Given the description of an element on the screen output the (x, y) to click on. 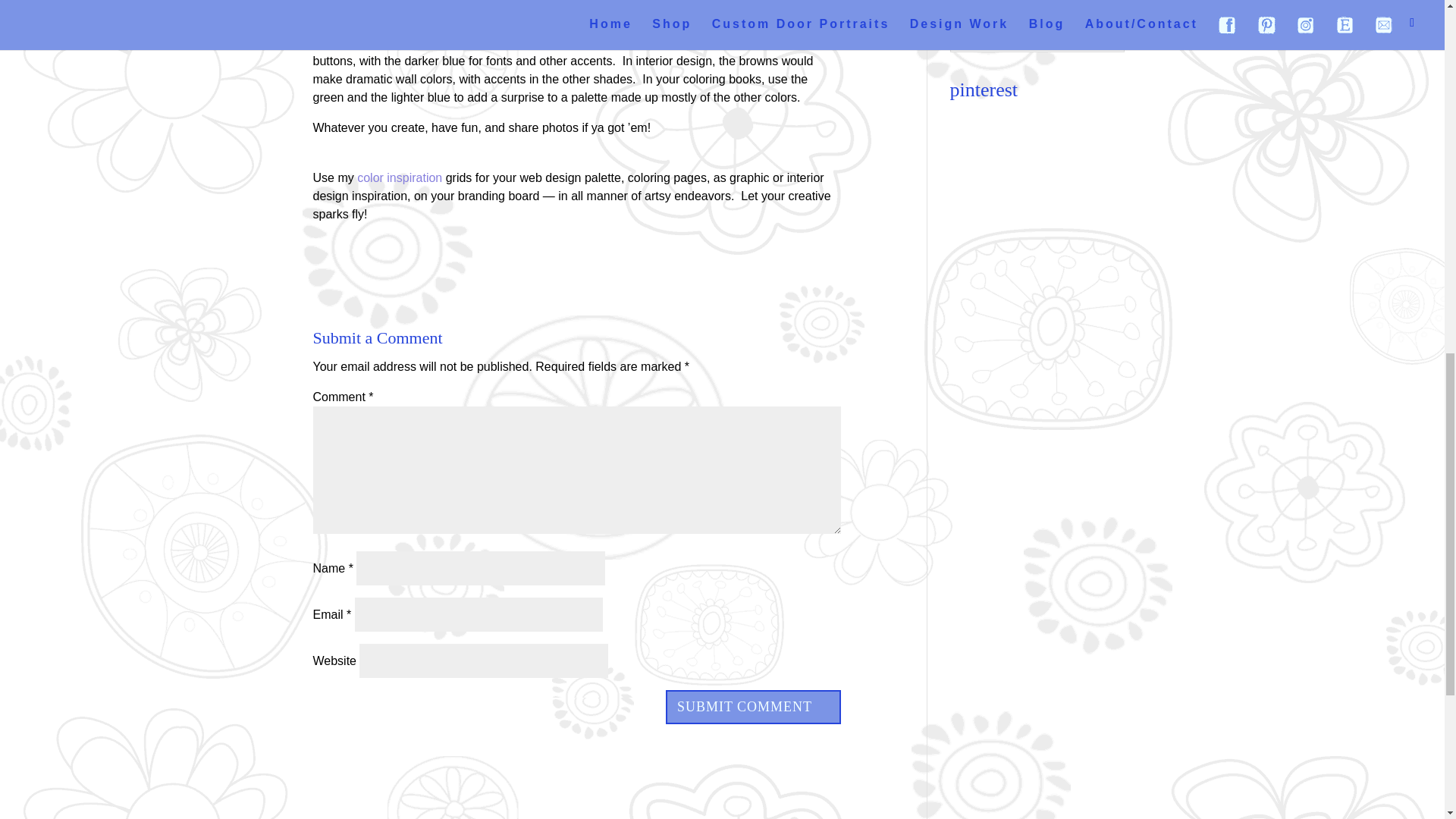
Submit Comment (753, 706)
color inspiration (399, 177)
Submit Comment (753, 706)
